Given the description of an element on the screen output the (x, y) to click on. 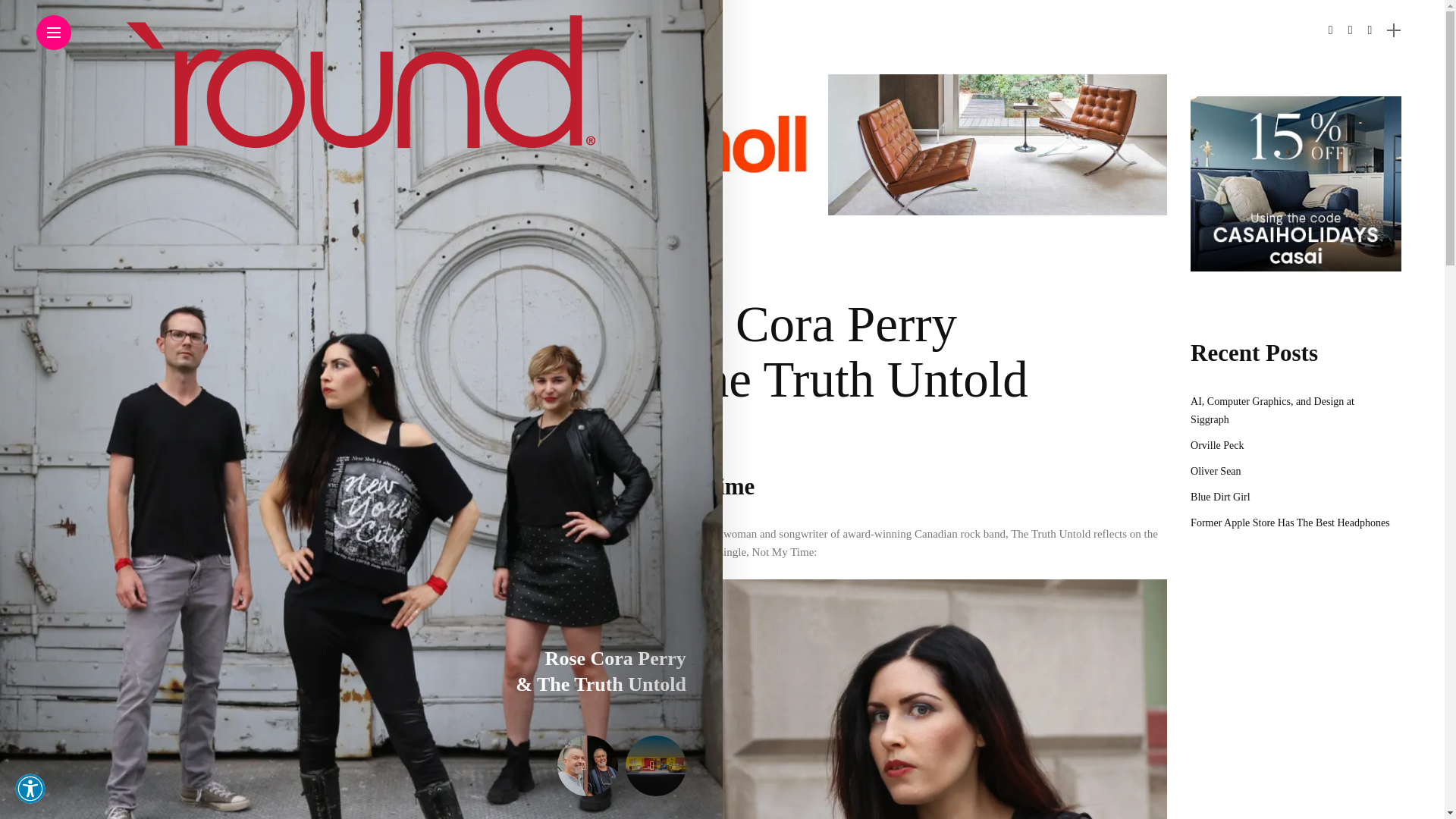
AI, Computer Graphics, and Design at Siggraph (1272, 410)
SONG STORIES (664, 271)
Blue Dirt Girl (1220, 496)
Oliver Sean (1215, 471)
Orville Peck (1217, 445)
Former Apple Store Has The Best Headphones (1290, 522)
